Given the description of an element on the screen output the (x, y) to click on. 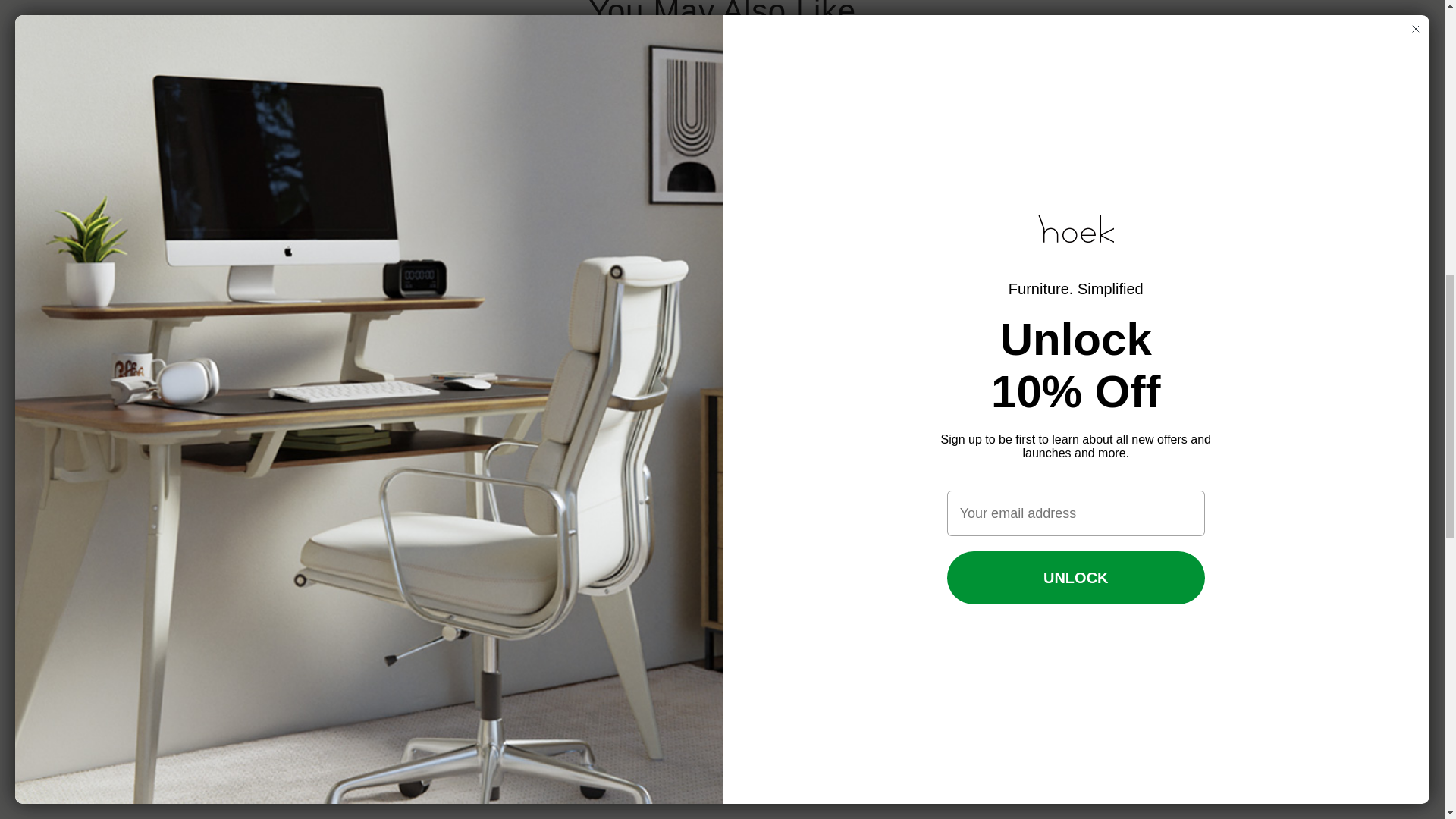
Walnut (162, 530)
Natural Birch (185, 530)
